Given the description of an element on the screen output the (x, y) to click on. 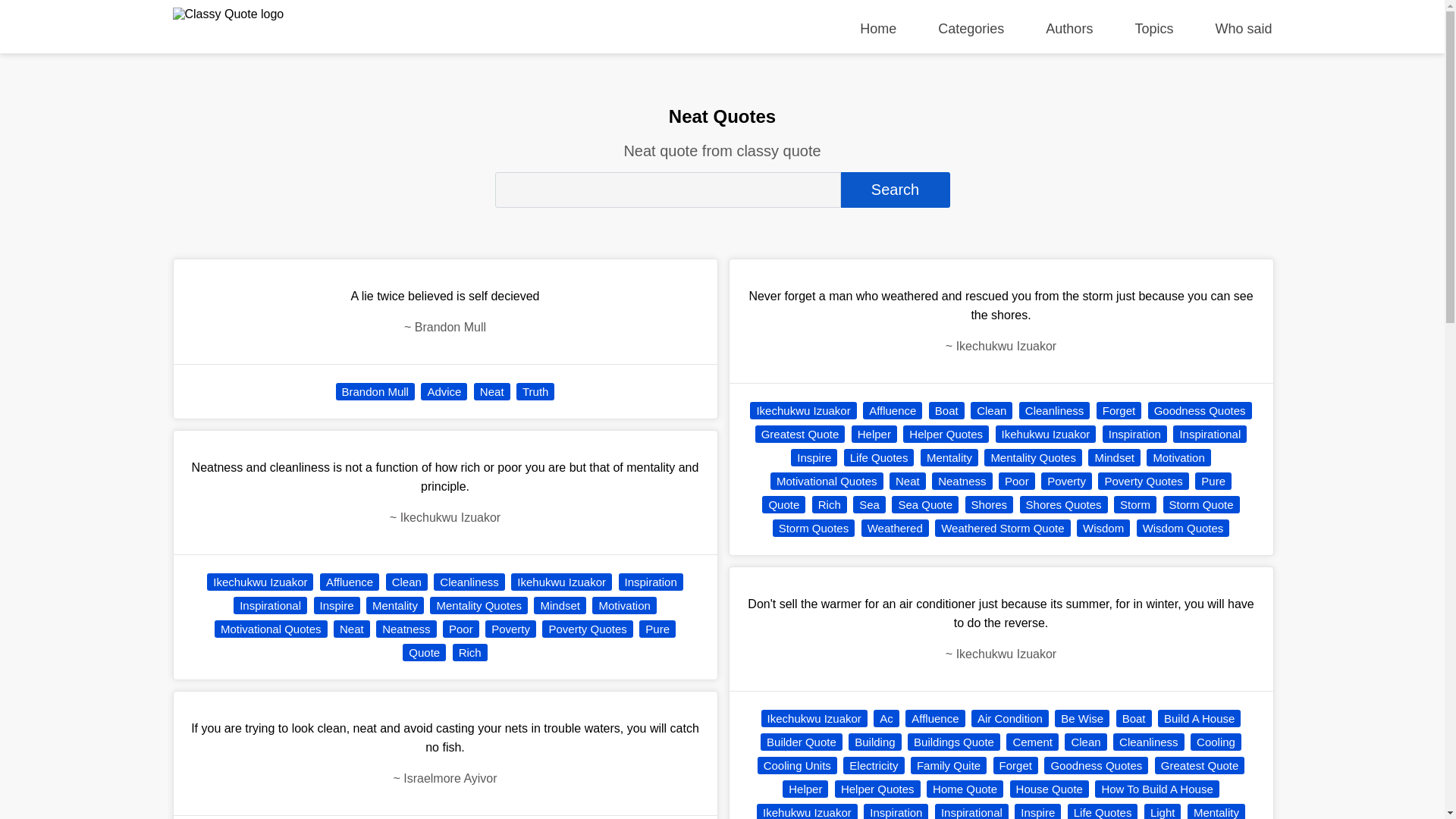
Categories (970, 28)
Authors (1069, 28)
Mindset (560, 605)
Inspiration (650, 581)
Ikechukwu Izuakor (259, 581)
Pure (657, 628)
Poverty (509, 628)
Who said (1242, 28)
Truth (535, 391)
Affluence (349, 581)
